Given the description of an element on the screen output the (x, y) to click on. 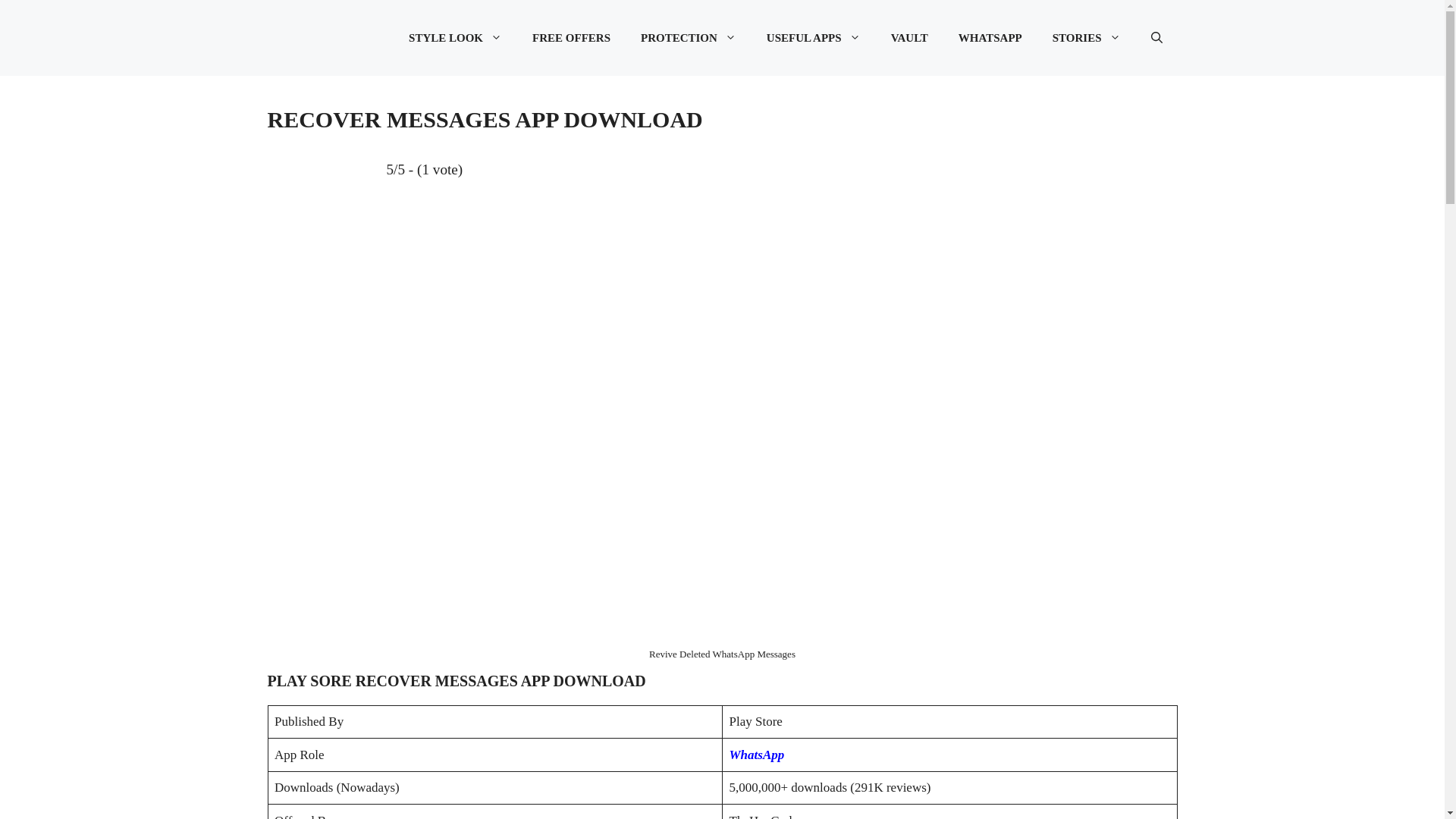
WHATSAPP (989, 37)
STORIES (1085, 37)
VAULT (909, 37)
USEFUL APPS (813, 37)
STYLE LOOK (454, 37)
WhatsApp (756, 754)
PROTECTION (688, 37)
FREE OFFERS (571, 37)
